Given the description of an element on the screen output the (x, y) to click on. 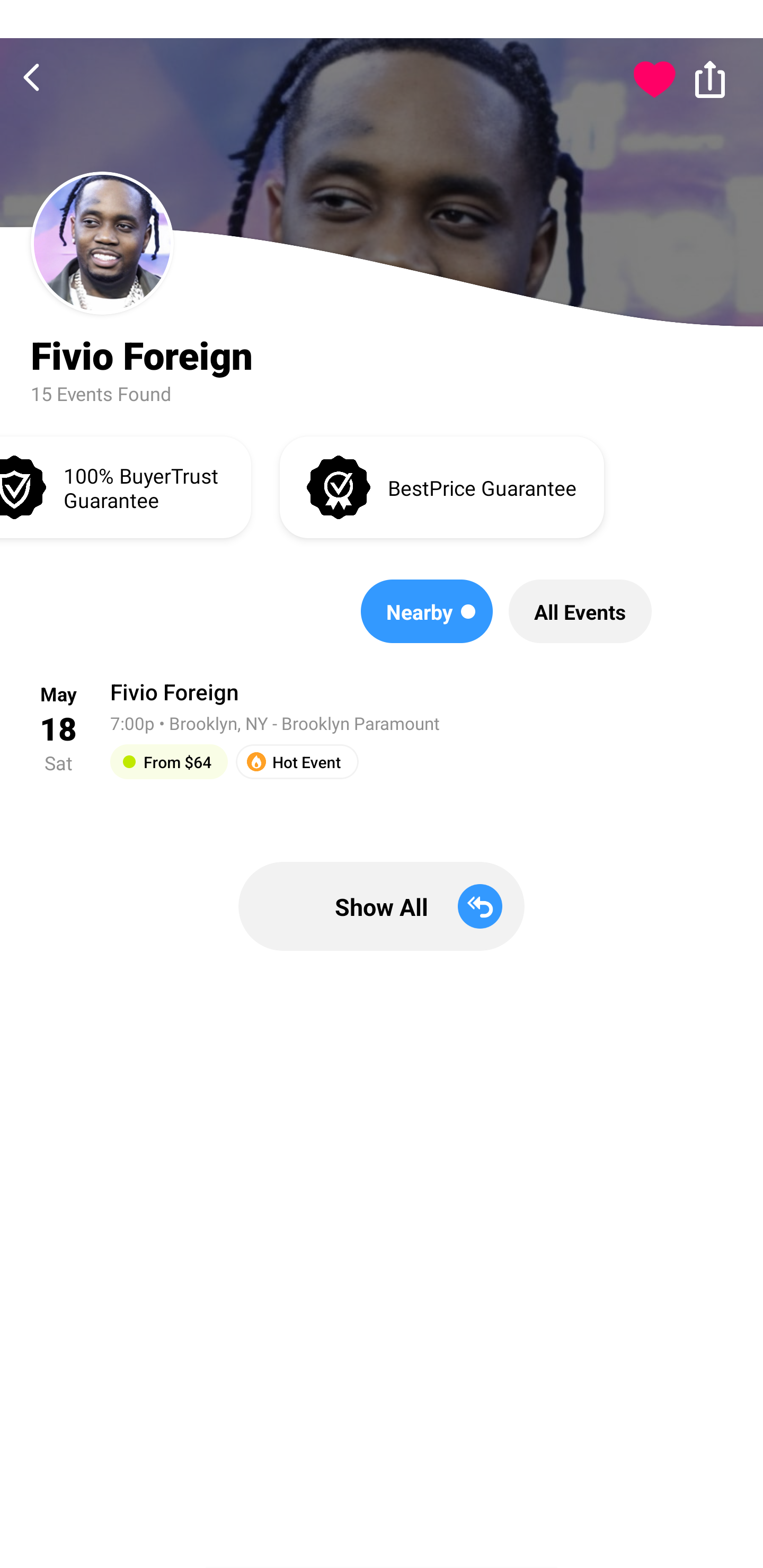
100% BuyerTrust Guarantee (125, 486)
BestPrice Guarantee (442, 486)
Nearby (426, 611)
All Events (579, 611)
Show All (381, 906)
